Given the description of an element on the screen output the (x, y) to click on. 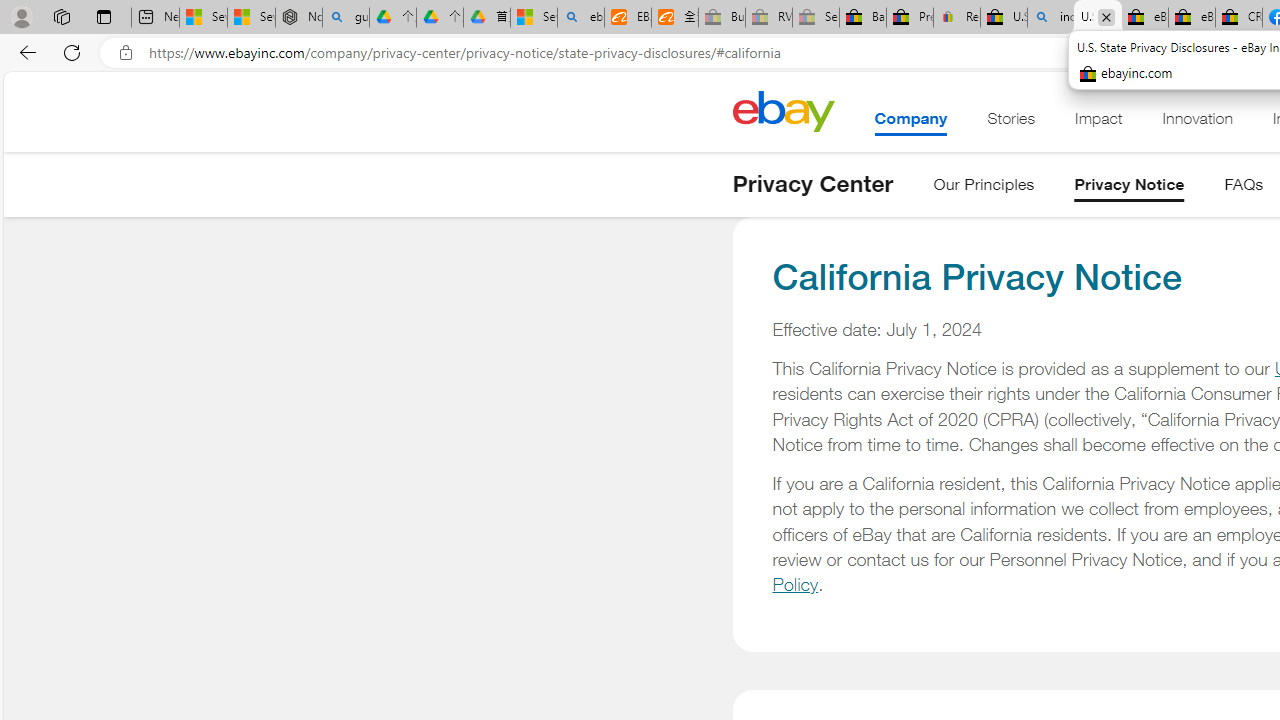
Sell worldwide with eBay - Sleeping (815, 17)
eBay Inc. Reports Third Quarter 2023 Results (1191, 17)
Privacy Center (812, 183)
Privacy Notice (1129, 188)
Press Room - eBay Inc. (910, 17)
Register: Create a personal eBay account (957, 17)
including - Search (1050, 17)
